Given the description of an element on the screen output the (x, y) to click on. 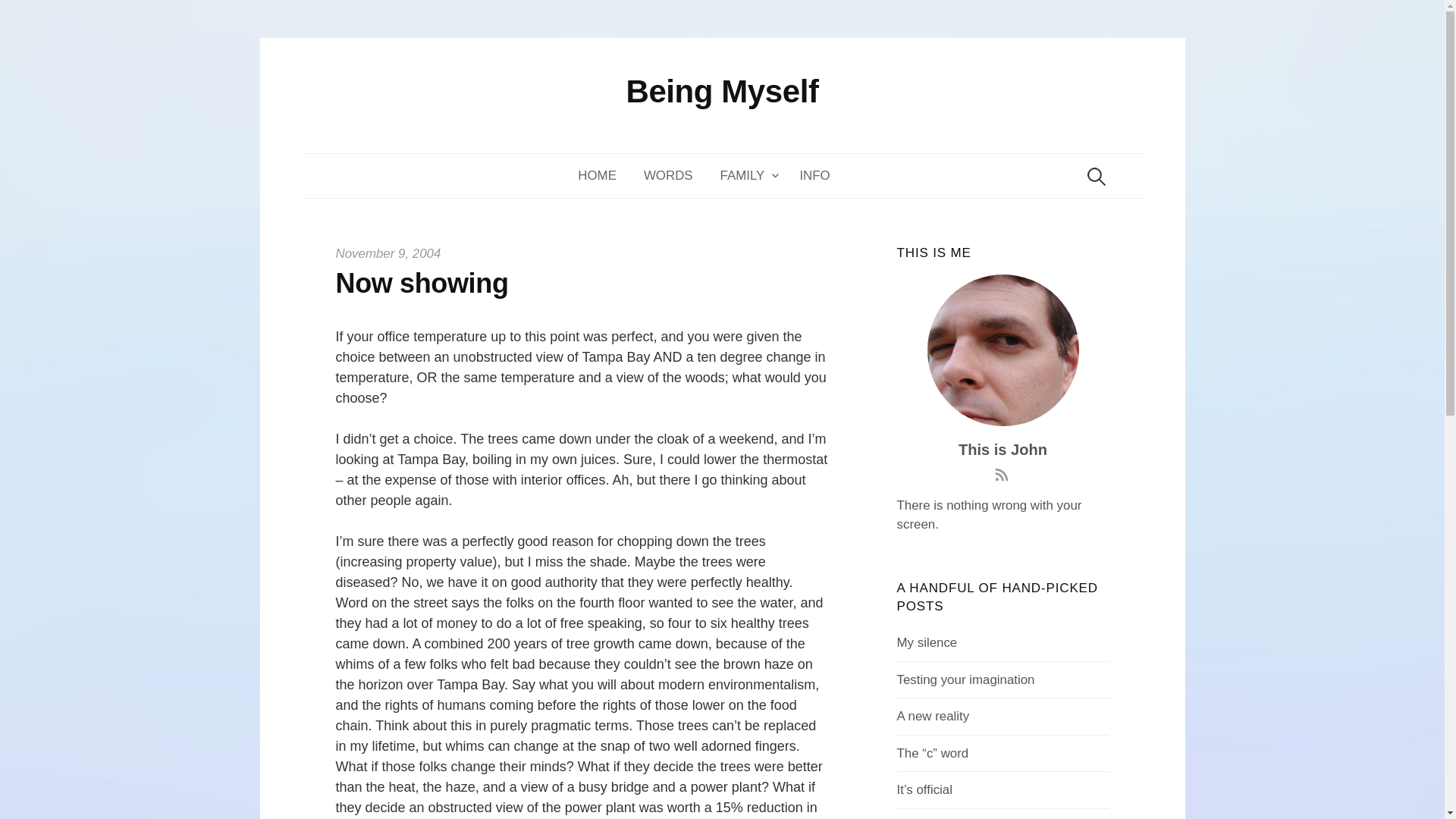
A new reality (932, 716)
Being Myself (722, 90)
WORDS (668, 175)
My silence (927, 642)
HOME (604, 175)
Search (18, 18)
November 9, 2004 (387, 253)
INFO (814, 175)
Testing your imagination (965, 679)
